Given the description of an element on the screen output the (x, y) to click on. 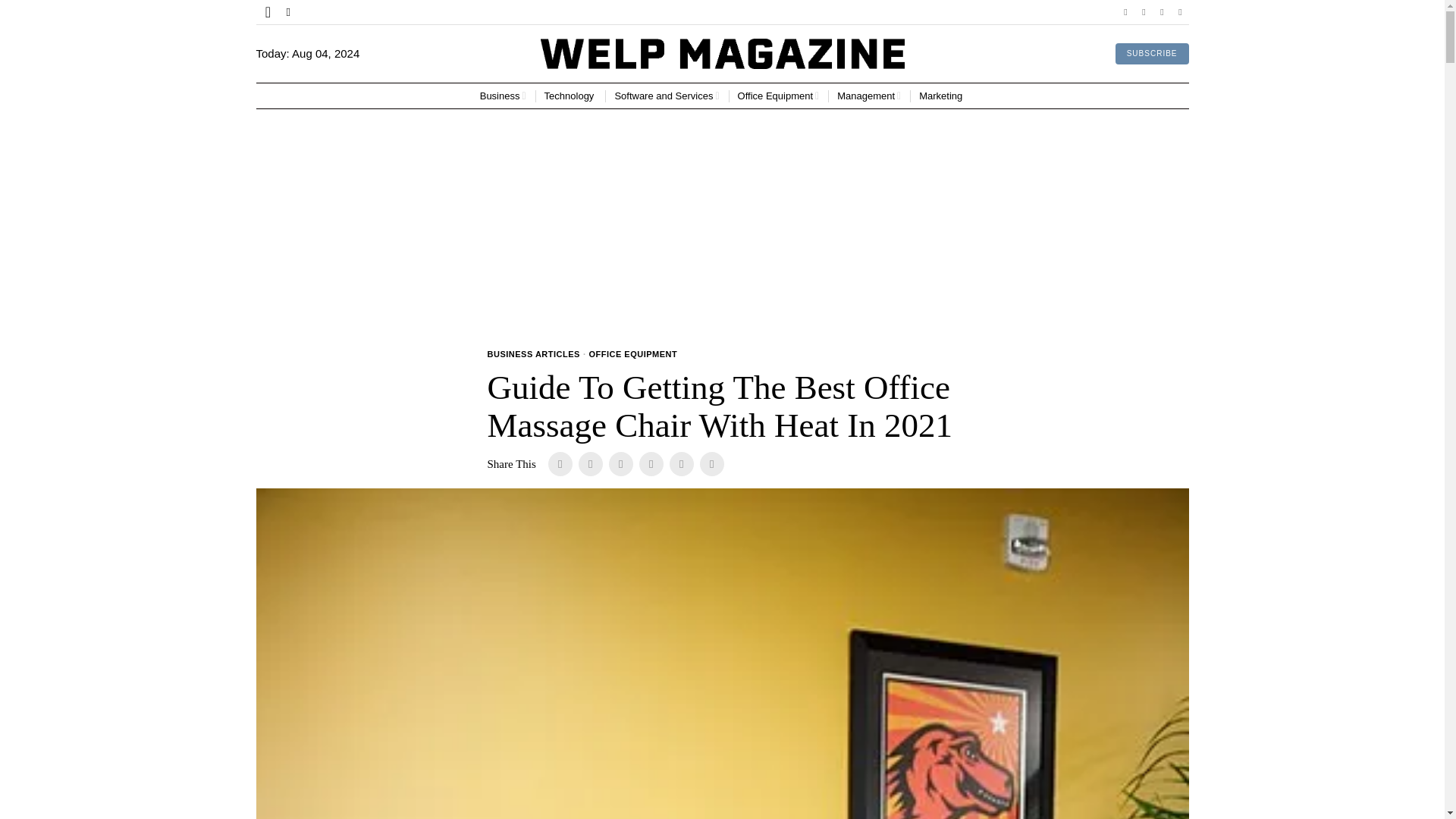
Marketing (942, 95)
OFFICE EQUIPMENT (632, 354)
SUBSCRIBE (1152, 53)
Office Equipment (778, 95)
Business (502, 95)
Technology (570, 95)
Software and Services (666, 95)
BUSINESS ARTICLES (532, 354)
Management (869, 95)
